Given the description of an element on the screen output the (x, y) to click on. 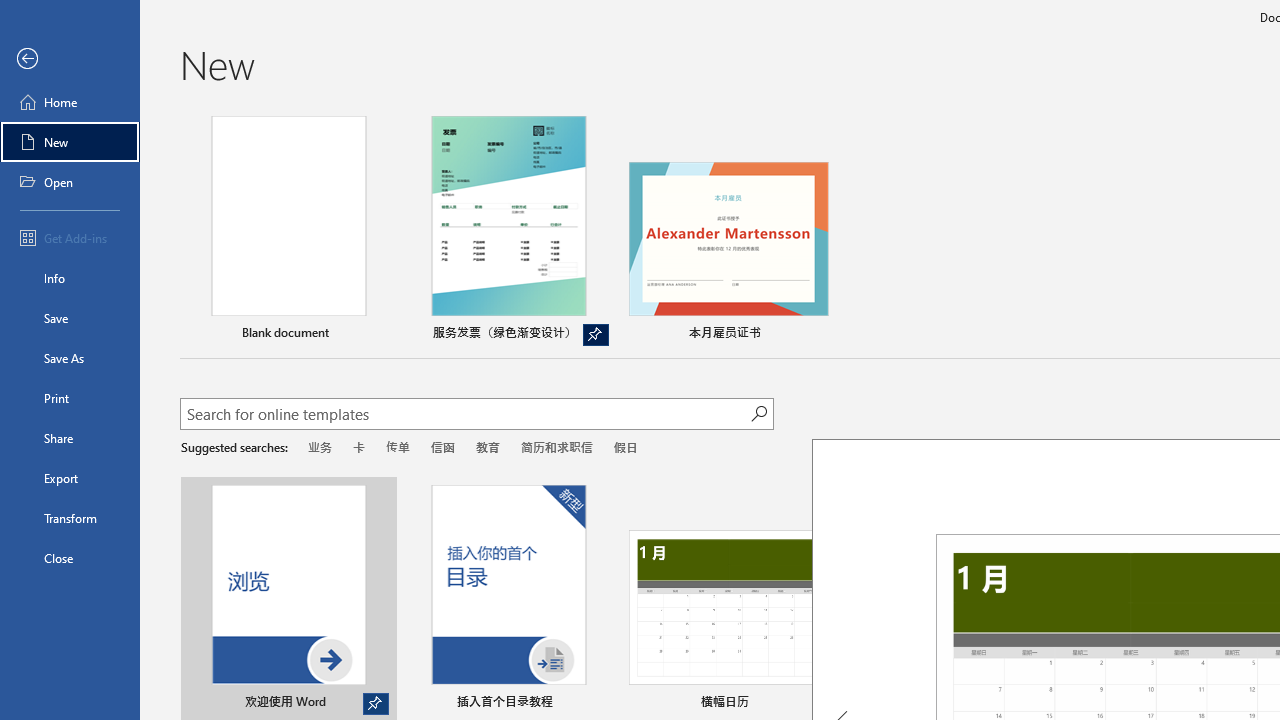
Print (69, 398)
Start searching (758, 413)
Get Add-ins (69, 237)
Search for online templates (465, 416)
Export (69, 477)
Save As (69, 357)
Blank document (288, 231)
Back (69, 59)
